Given the description of an element on the screen output the (x, y) to click on. 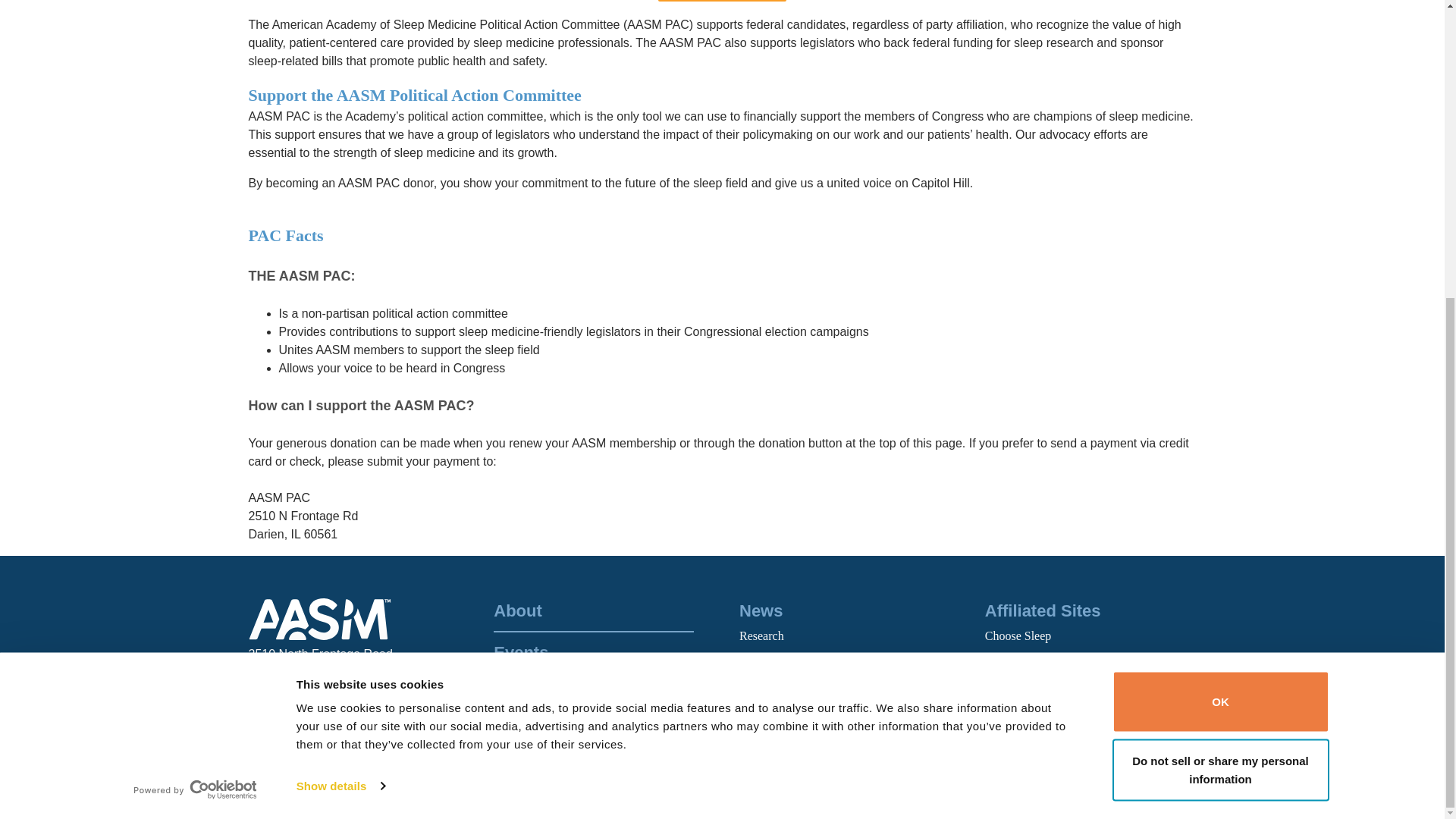
Show details (340, 324)
